Given the description of an element on the screen output the (x, y) to click on. 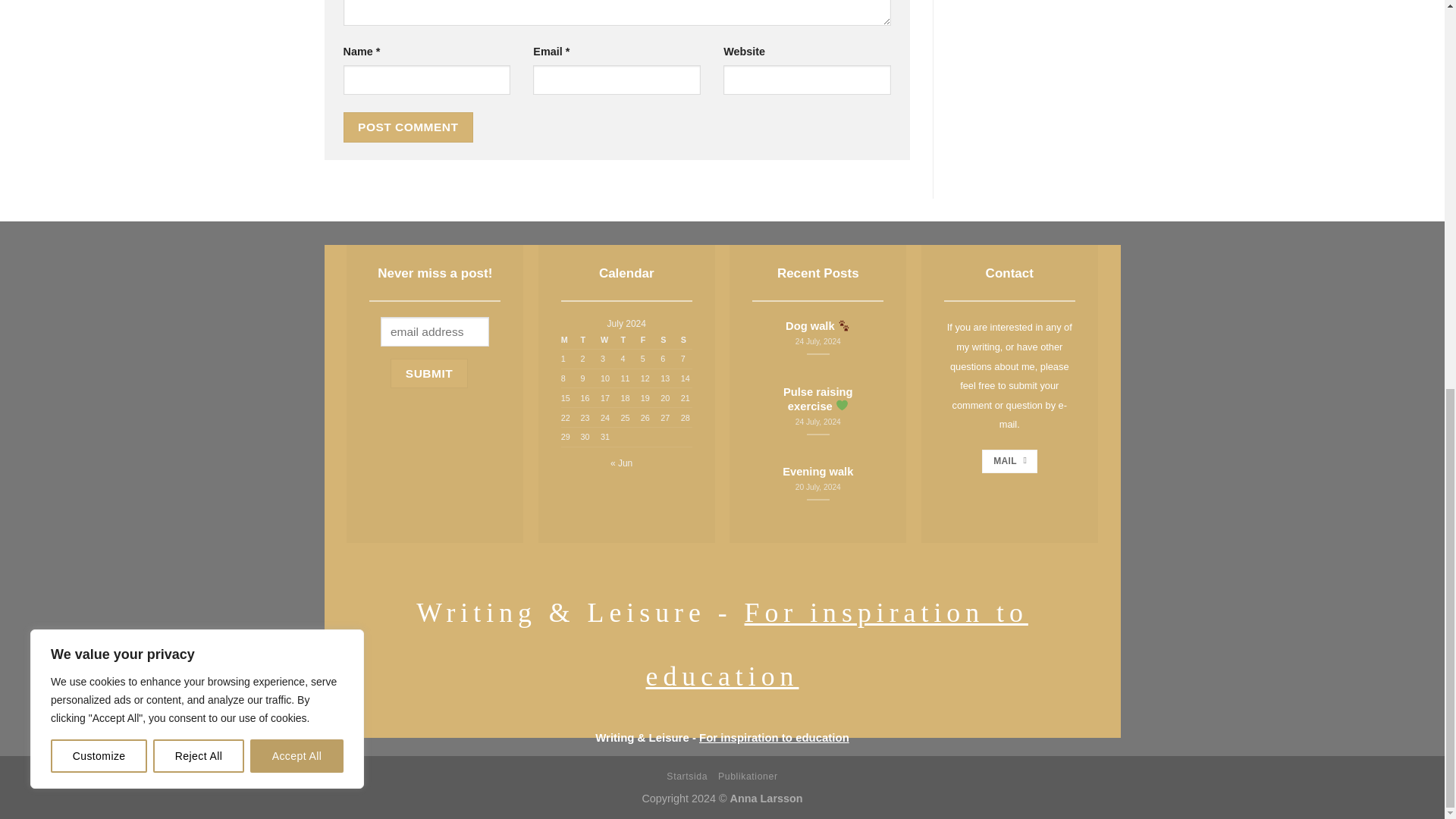
Monday (568, 340)
Accept All (296, 18)
Saturday (666, 340)
14 (685, 378)
Sunday (684, 340)
Friday (646, 340)
4 (622, 358)
Wednesday (605, 340)
Thursday (625, 340)
Customize (98, 18)
7 (683, 358)
Reject All (198, 18)
Tuesday (585, 340)
Submit (428, 373)
Post Comment (407, 126)
